Given the description of an element on the screen output the (x, y) to click on. 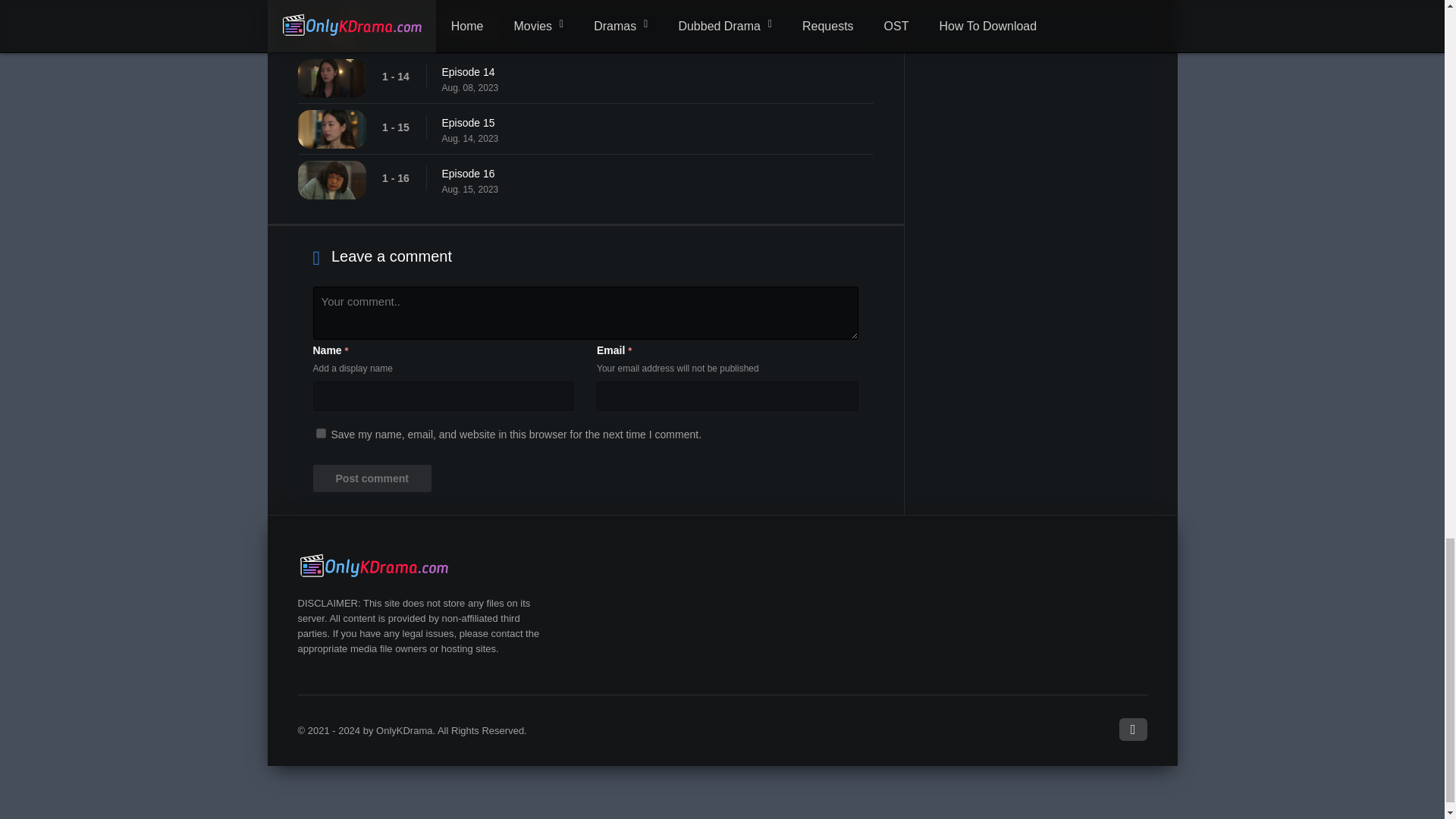
yes (319, 433)
Post comment (371, 478)
